Given the description of an element on the screen output the (x, y) to click on. 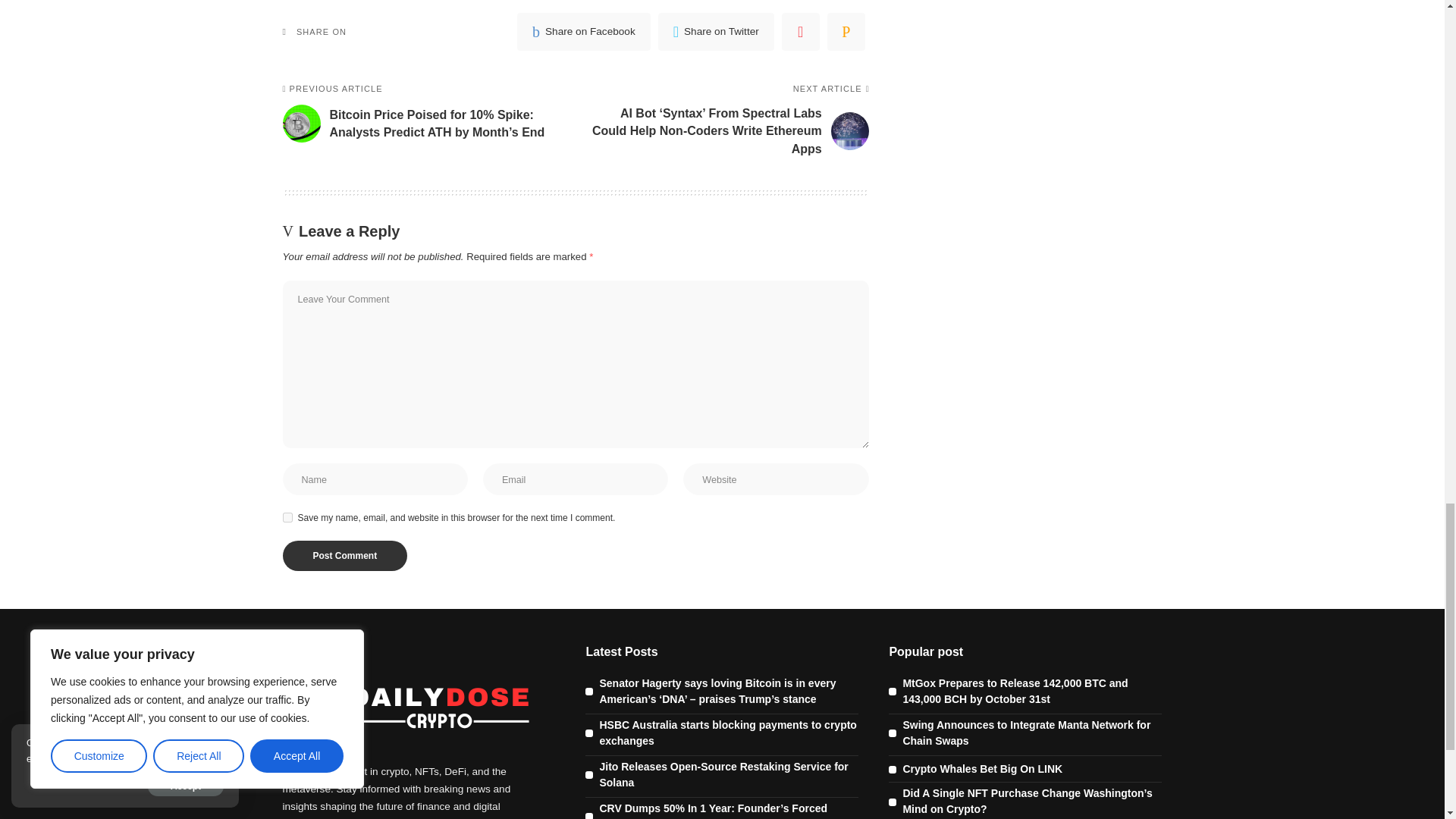
Post Comment (344, 555)
yes (287, 517)
